Given the description of an element on the screen output the (x, y) to click on. 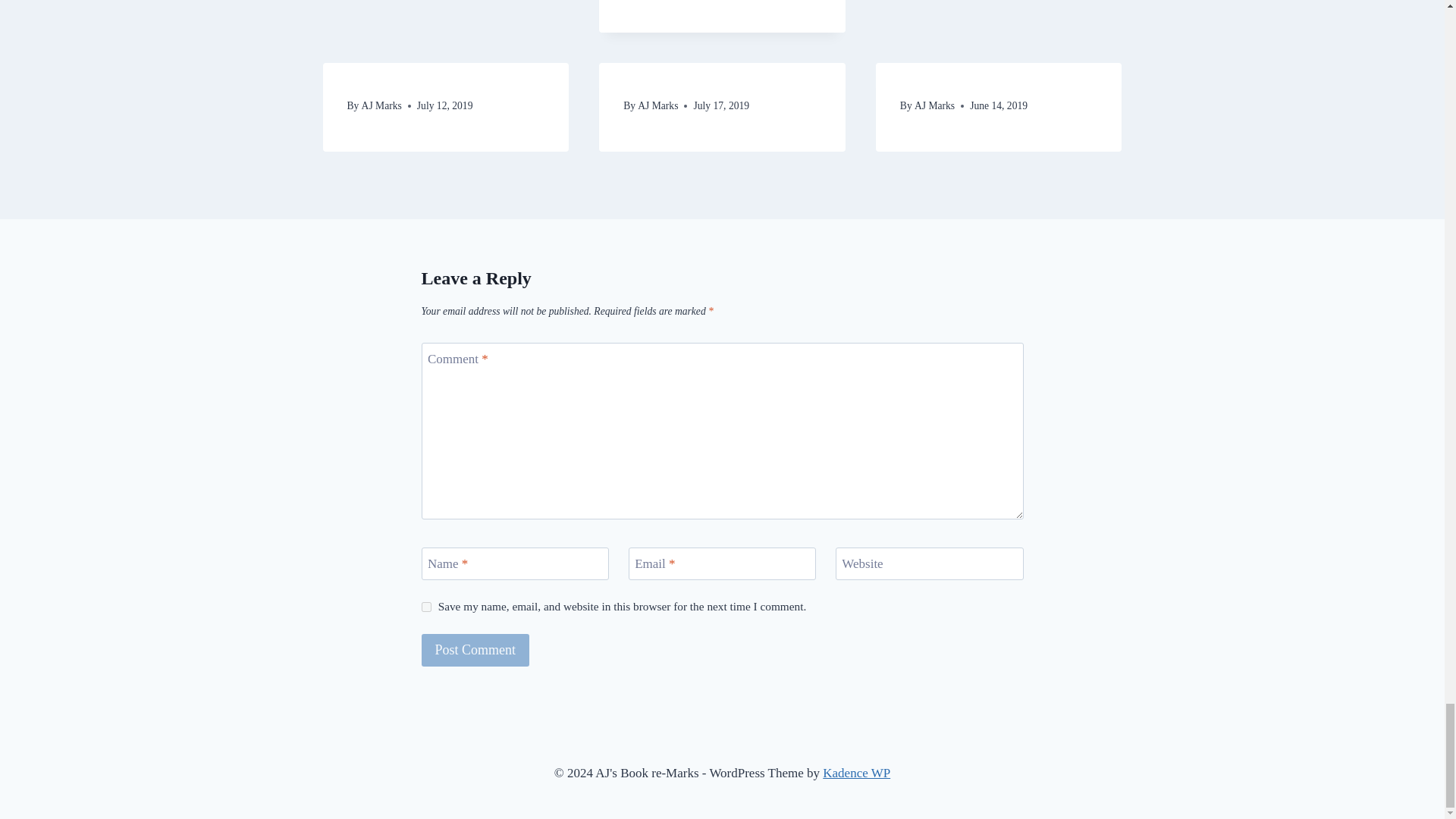
Post Comment (475, 649)
yes (426, 606)
